Given the description of an element on the screen output the (x, y) to click on. 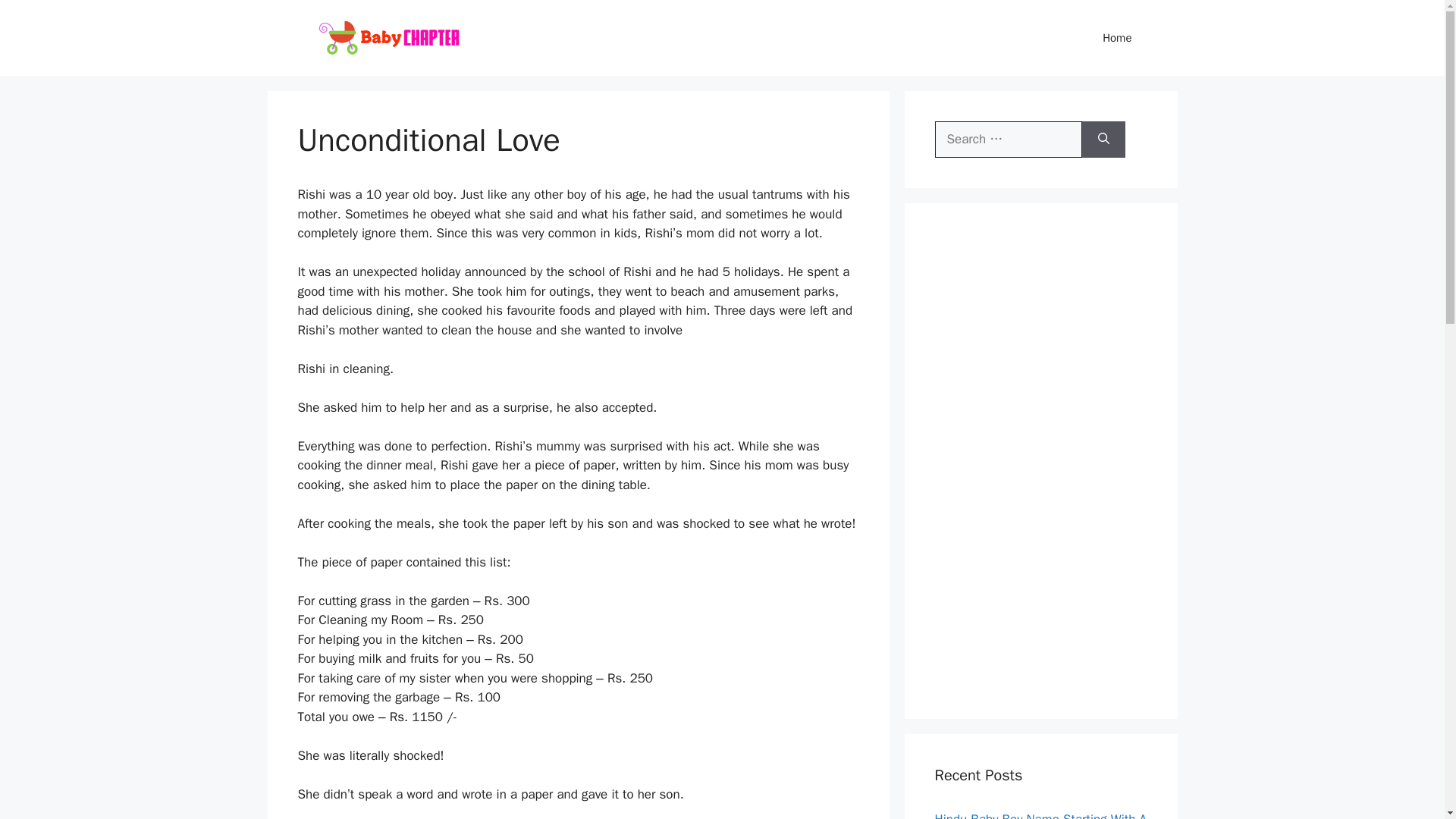
Hindu Baby Boy Name Starting With A Letter In 2024 (1039, 815)
Search for: (1007, 139)
Home (1117, 37)
